Given the description of an element on the screen output the (x, y) to click on. 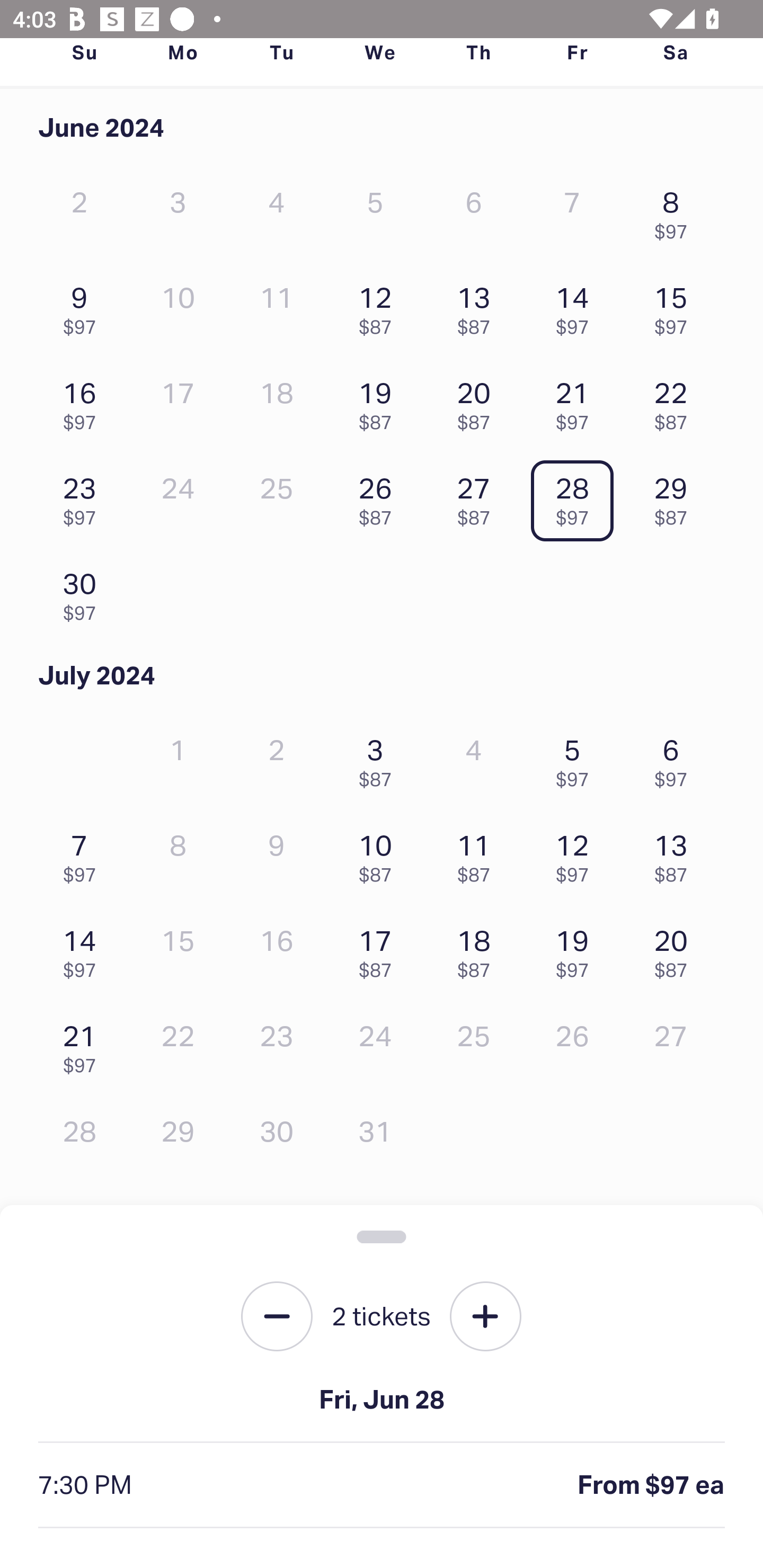
8 $97 (675, 210)
9 $97 (84, 306)
12 $87 (379, 306)
13 $87 (478, 306)
14 $97 (577, 306)
15 $97 (675, 306)
16 $97 (84, 401)
19 $87 (379, 401)
20 $87 (478, 401)
21 $97 (577, 401)
22 $87 (675, 401)
23 $97 (84, 496)
26 $87 (379, 496)
27 $87 (478, 496)
28 $97 (577, 496)
29 $87 (675, 496)
30 $97 (84, 591)
3 $87 (379, 757)
5 $97 (577, 757)
6 $97 (675, 757)
7 $97 (84, 853)
10 $87 (379, 853)
11 $87 (478, 853)
12 $97 (577, 853)
13 $87 (675, 853)
14 $97 (84, 949)
17 $87 (379, 949)
18 $87 (478, 949)
19 $97 (577, 949)
20 $87 (675, 949)
21 $97 (84, 1044)
7:30 PM From $97 ea (381, 1485)
